Given the description of an element on the screen output the (x, y) to click on. 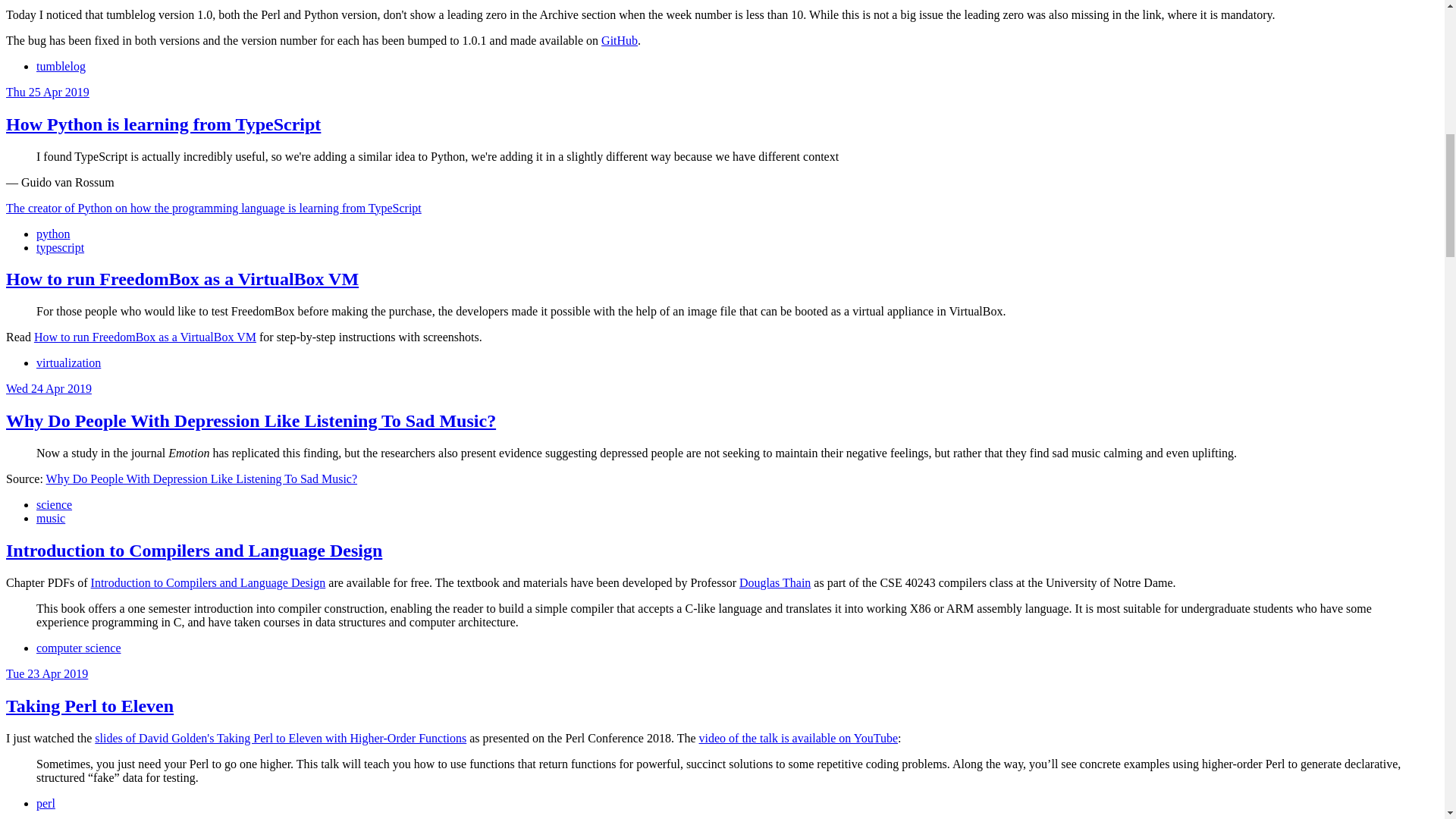
Optional type checking, and a virtual FreedomBox (46, 91)
science (53, 504)
virtualization (68, 362)
Depression and sad music (48, 388)
GitHub (619, 40)
Wed 24 Apr 2019 (48, 388)
How to run FreedomBox as a VirtualBox VM (181, 279)
How Python is learning from TypeScript (162, 124)
tumblelog (60, 65)
music (50, 517)
Why Do People With Depression Like Listening To Sad Music? (201, 478)
Why Do People With Depression Like Listening To Sad Music? (250, 420)
Taking Perl to Eleven, and checking out Alpine Linux (46, 673)
python (52, 233)
How to run FreedomBox as a VirtualBox VM (144, 336)
